Given the description of an element on the screen output the (x, y) to click on. 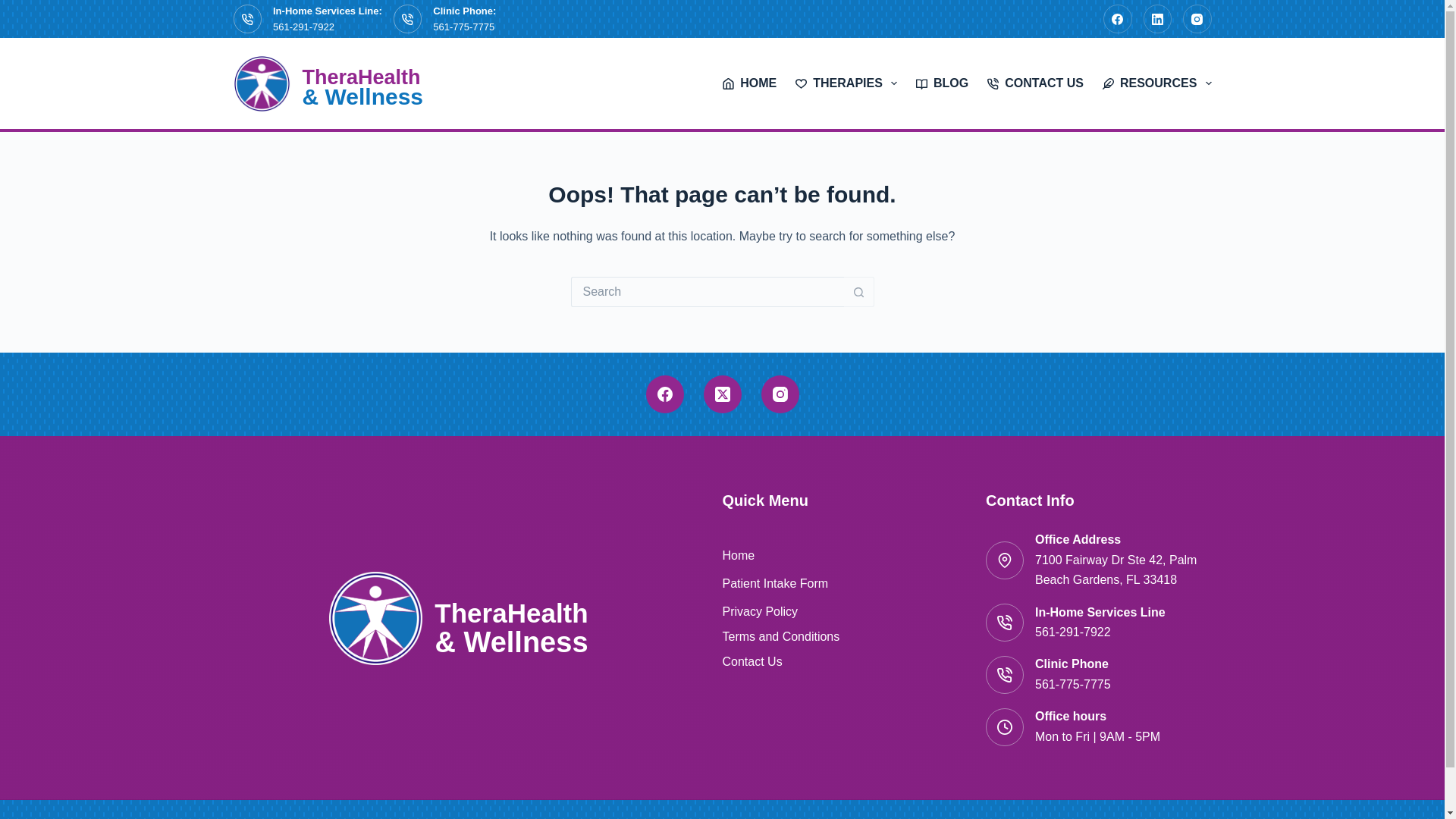
TheraHealth (360, 77)
HOME (749, 82)
THERAPIES (846, 82)
Skip to content (15, 7)
561-775-7775 (463, 26)
Search for... (706, 291)
BLOG (942, 82)
561-291-7922 (303, 26)
